Given the description of an element on the screen output the (x, y) to click on. 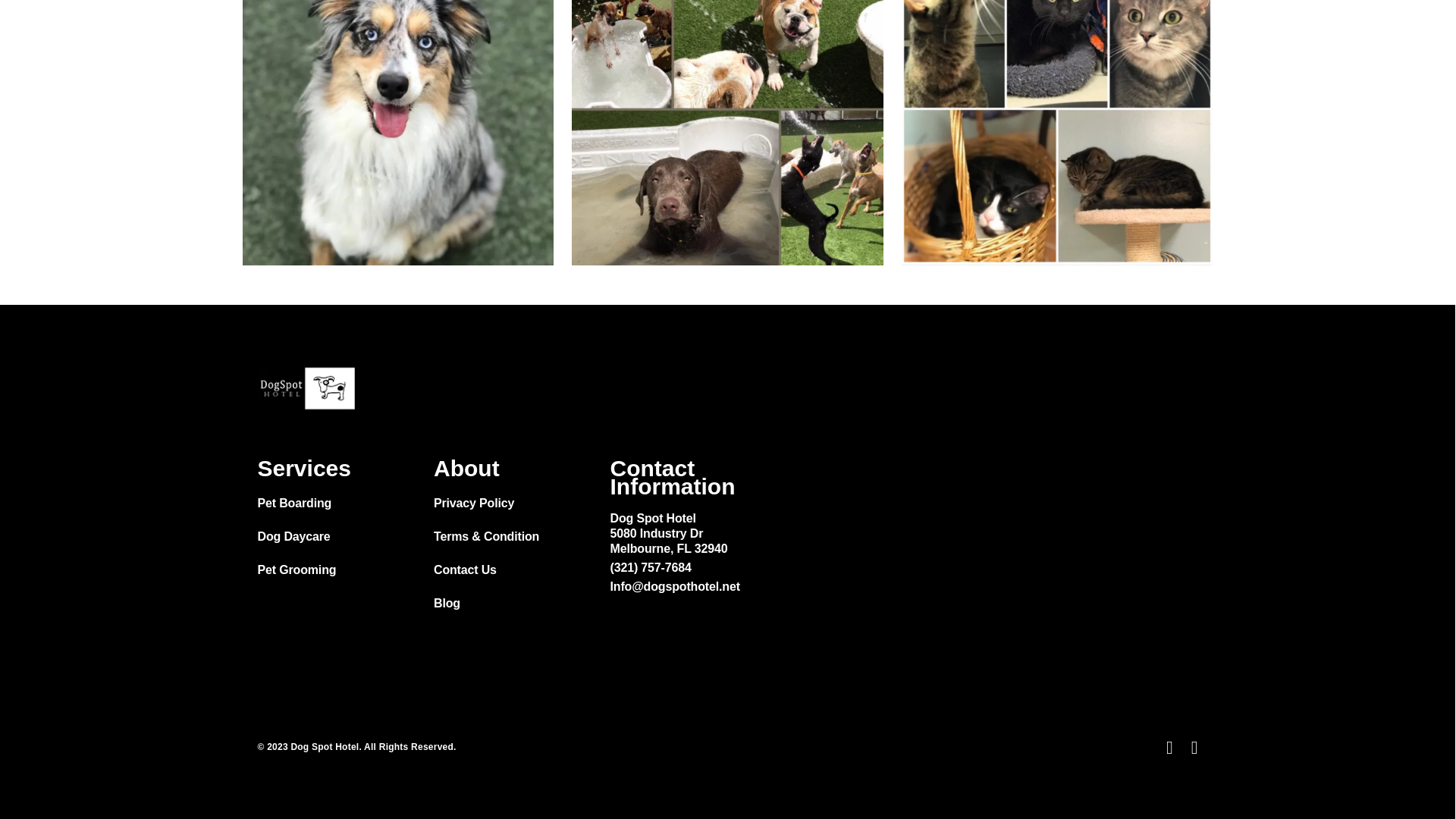
dog spot hotel - logo (306, 388)
Pet Boarding (294, 502)
